Given the description of an element on the screen output the (x, y) to click on. 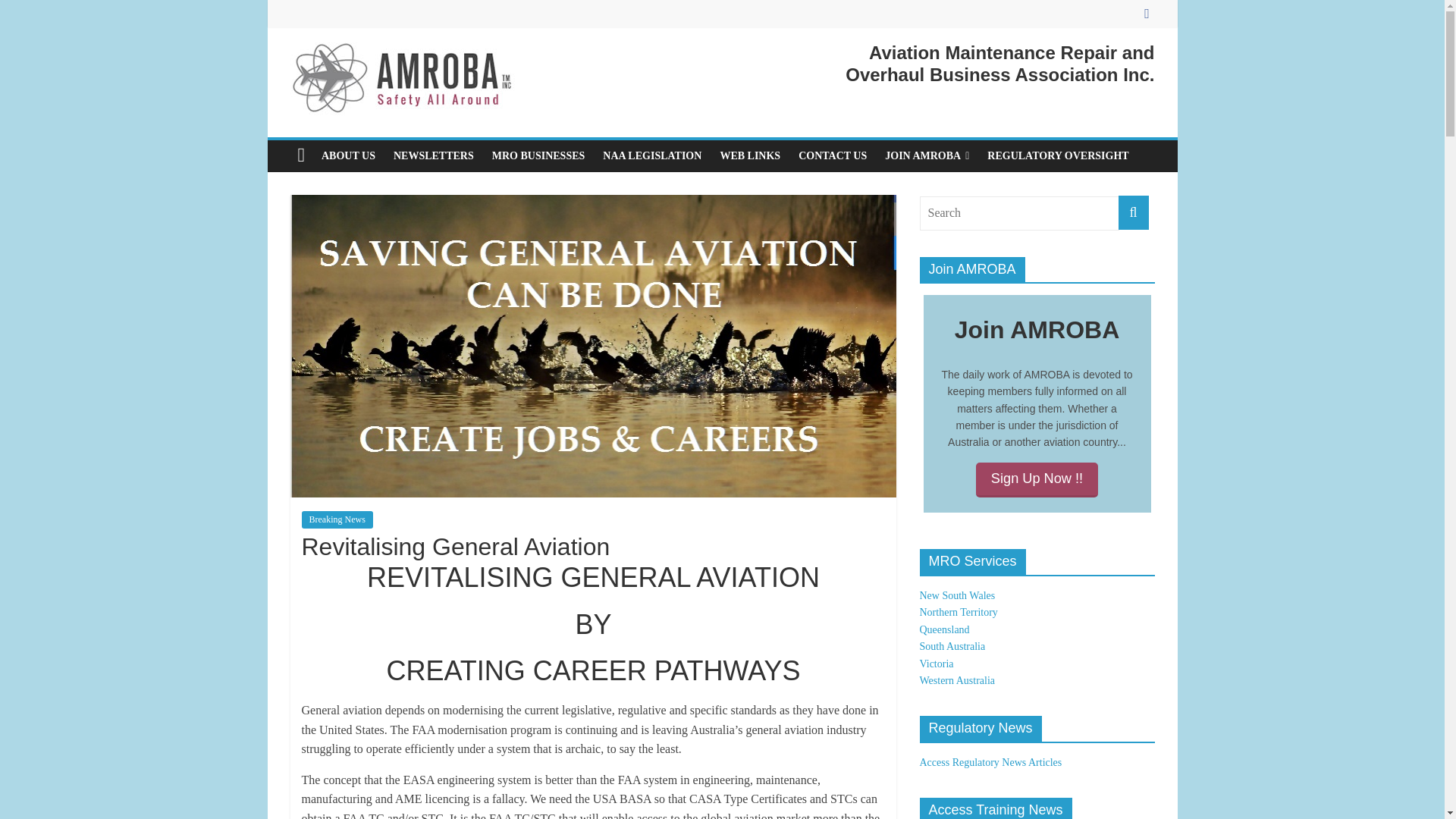
New South Wales (956, 595)
MRO BUSINESSES (538, 155)
CONTACT US (832, 155)
Victoria (935, 663)
South Australia (951, 645)
ABOUT US (348, 155)
Northern Territory (957, 612)
REGULATORY OVERSIGHT (1057, 155)
NEWSLETTERS (433, 155)
WEB LINKS (749, 155)
